Given the description of an element on the screen output the (x, y) to click on. 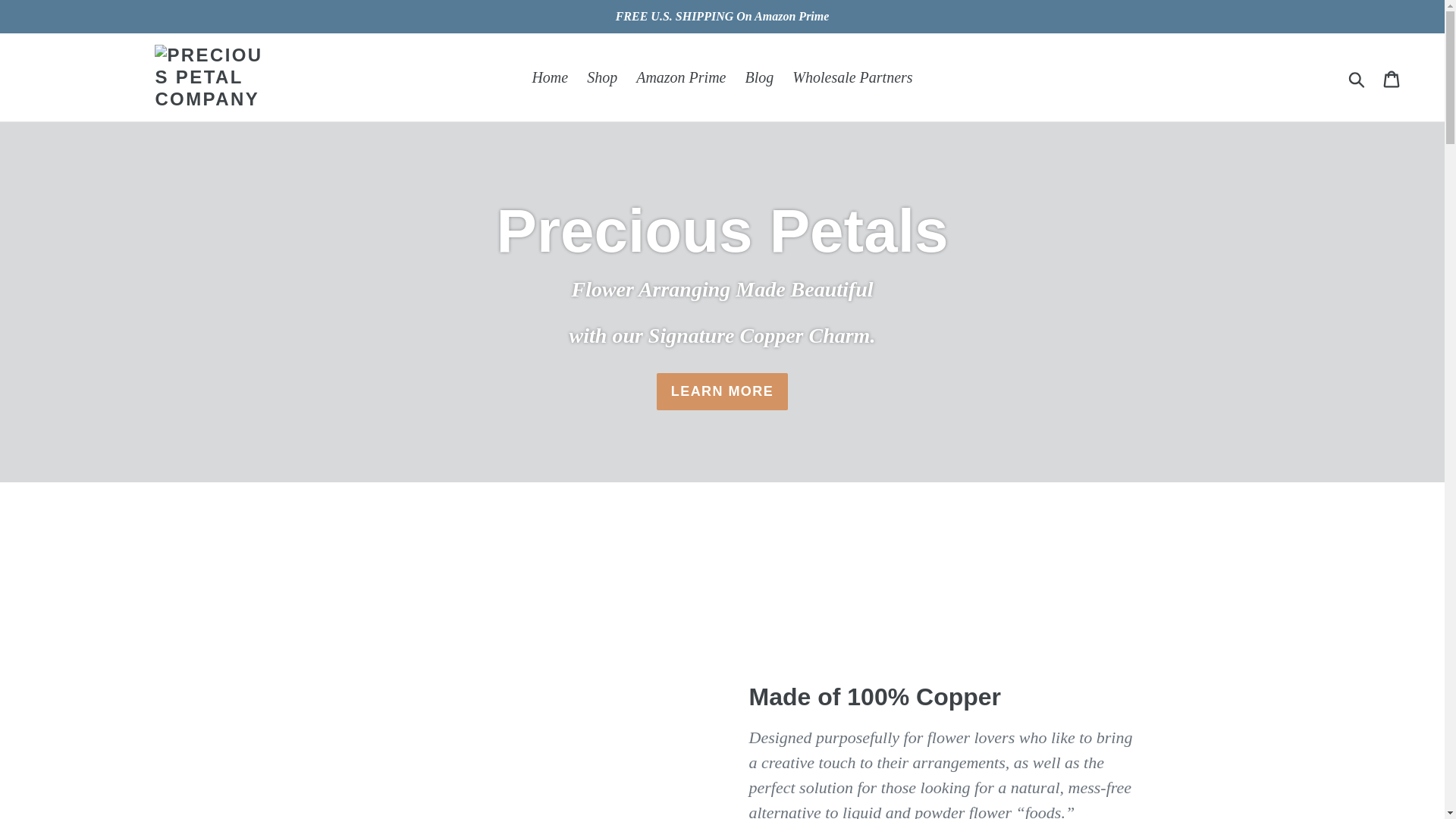
Wholesale Partners (852, 76)
LEARN MORE (721, 391)
Amazon Prime (680, 76)
Submit (1357, 77)
Shop (601, 76)
Blog (758, 76)
Cart (1392, 77)
Home (549, 76)
